Given the description of an element on the screen output the (x, y) to click on. 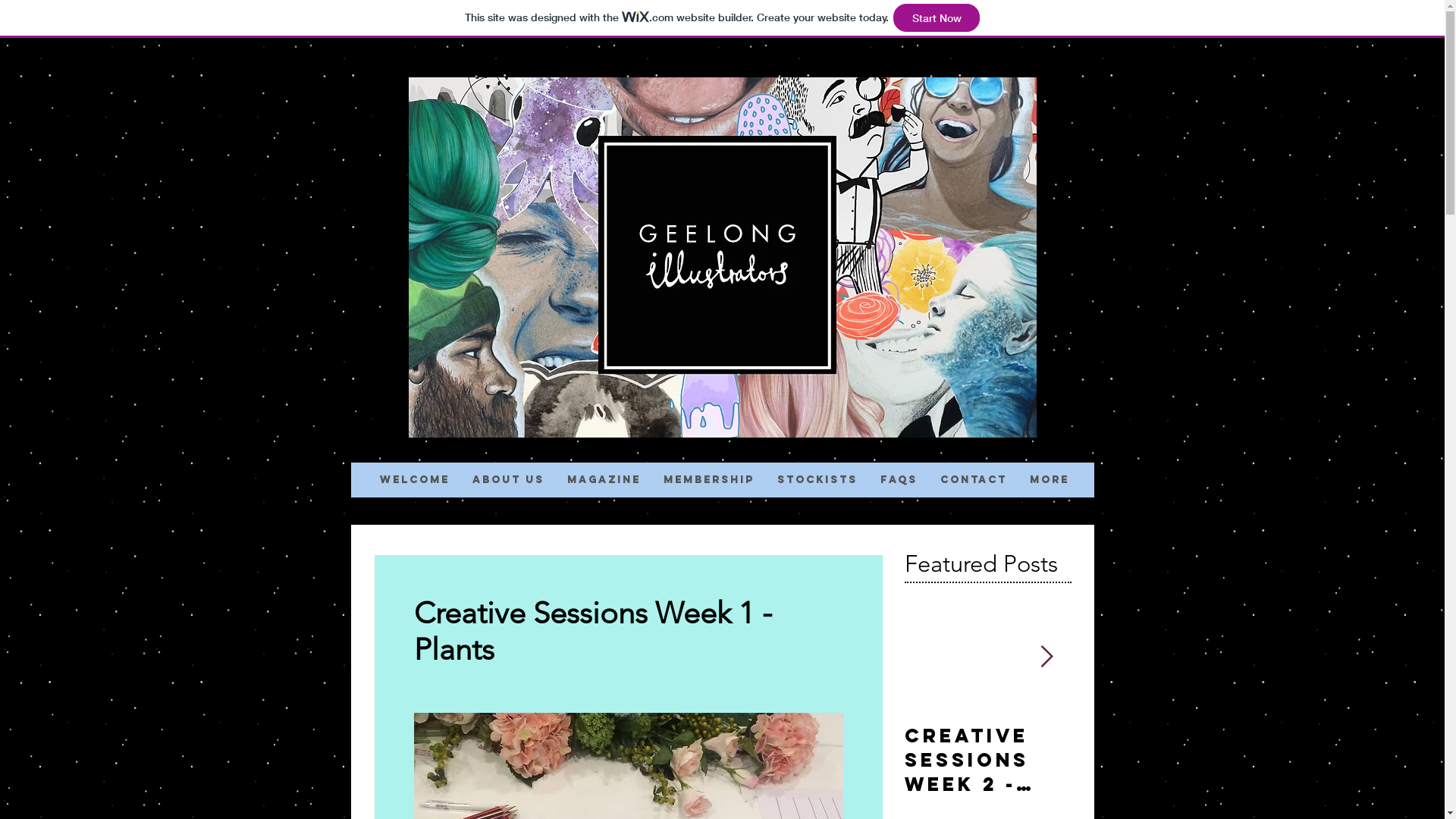
Magazine Element type: text (603, 479)
Creative Sessions Week 2 - Animals Element type: text (986, 759)
About Us Element type: text (508, 479)
Membership Element type: text (708, 479)
Creative Sessions Week 1 - Plants Element type: text (1153, 759)
Stockists Element type: text (817, 479)
Welcome Element type: text (414, 479)
Contact Element type: text (972, 479)
FAQs Element type: text (898, 479)
